Given the description of an element on the screen output the (x, y) to click on. 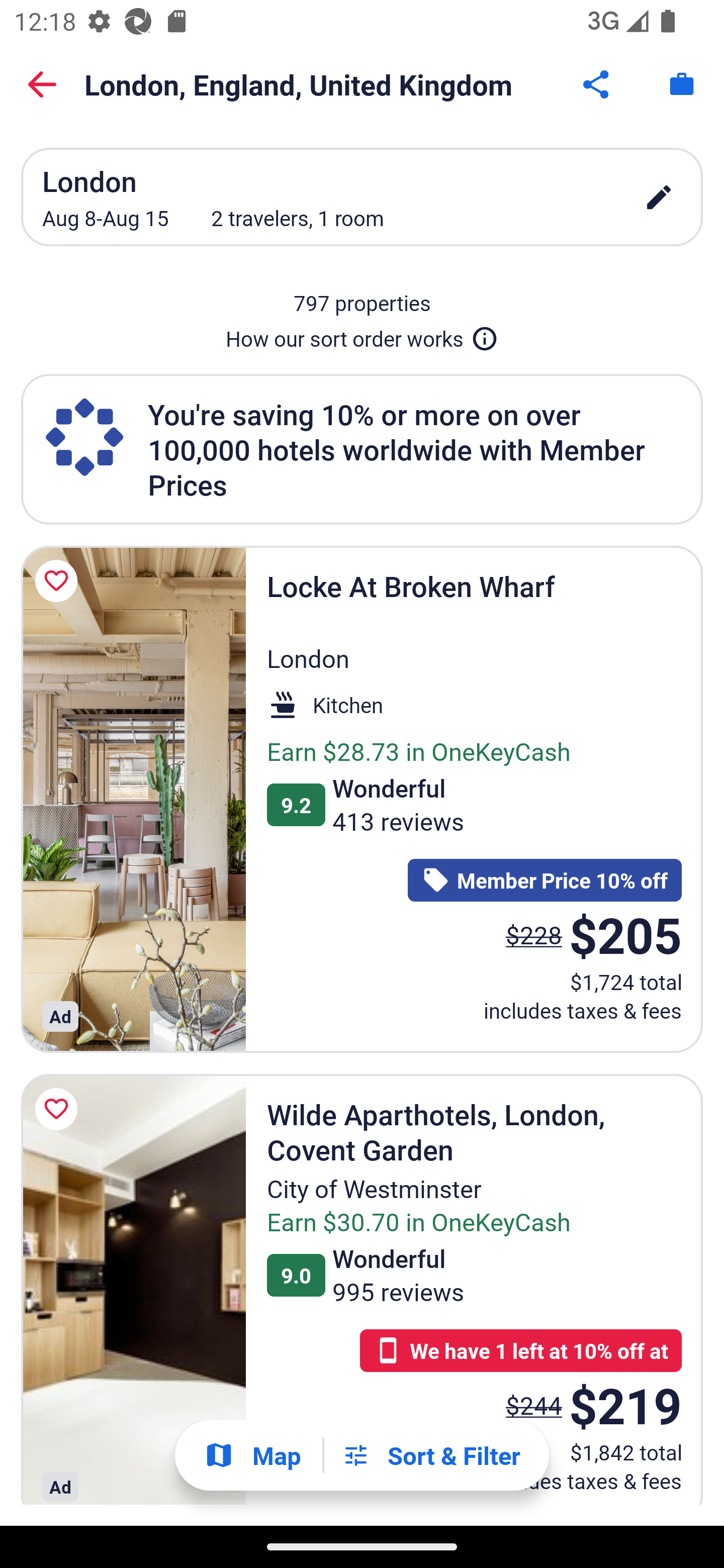
Back (42, 84)
Share Button (597, 84)
Trips. Button (681, 84)
London Aug 8-Aug 15 2 travelers, 1 room edit (361, 196)
How our sort order works (361, 334)
Save Locke At Broken Wharf to a trip (59, 580)
Locke At Broken Wharf (133, 798)
$228 The price was $228 (533, 934)
Wilde Aparthotels, London, Covent Garden (133, 1289)
$244 The price was $244 (533, 1404)
Filters Sort & Filter Filters Button (430, 1455)
Show map Map Show map Button (252, 1455)
